Given the description of an element on the screen output the (x, y) to click on. 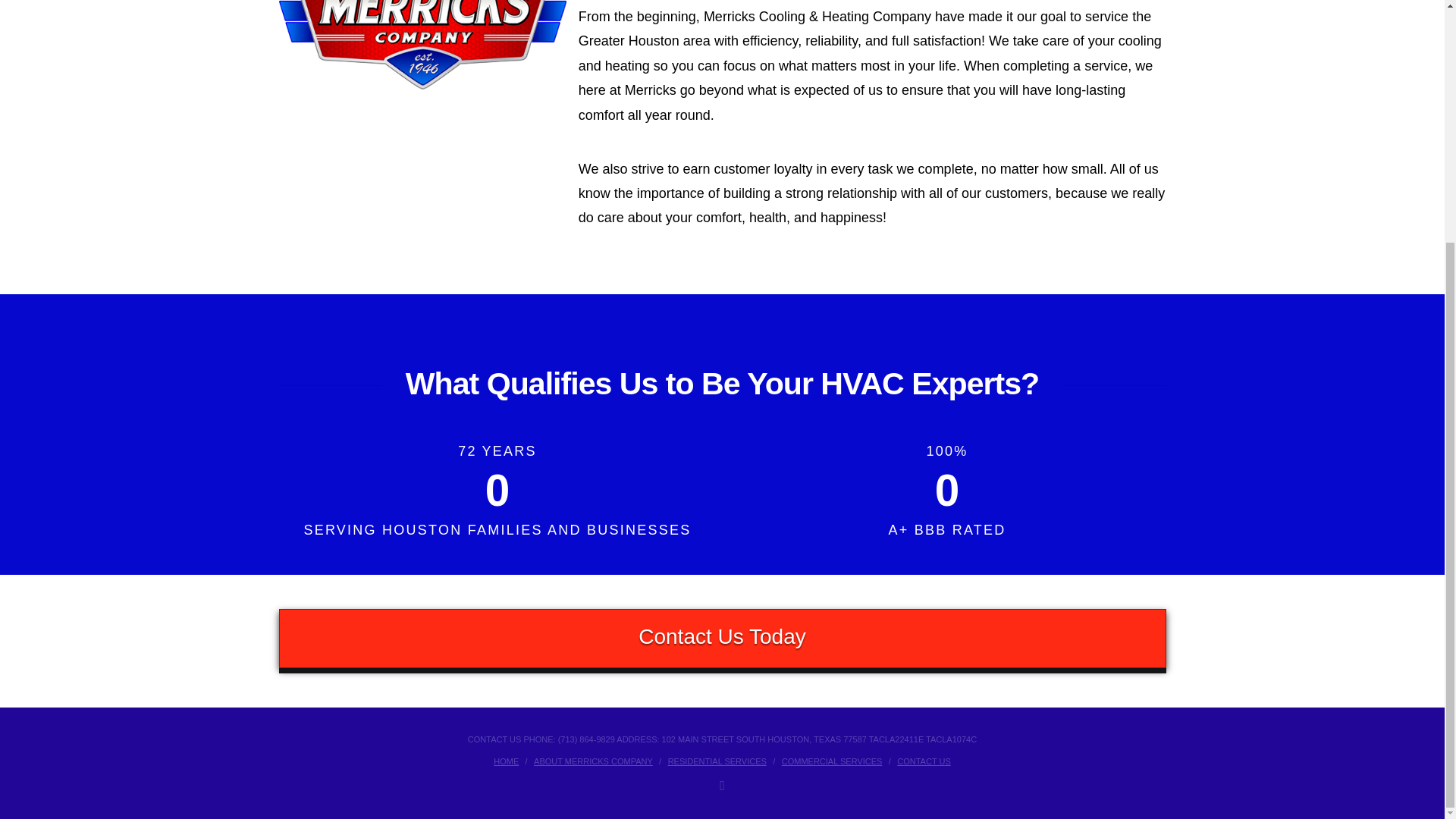
CONTACT US (923, 760)
ABOUT MERRICKS COMPANY (593, 760)
RESIDENTIAL SERVICES (717, 760)
Contact Us Today (722, 638)
HOME (505, 760)
COMMERCIAL SERVICES (831, 760)
